Given the description of an element on the screen output the (x, y) to click on. 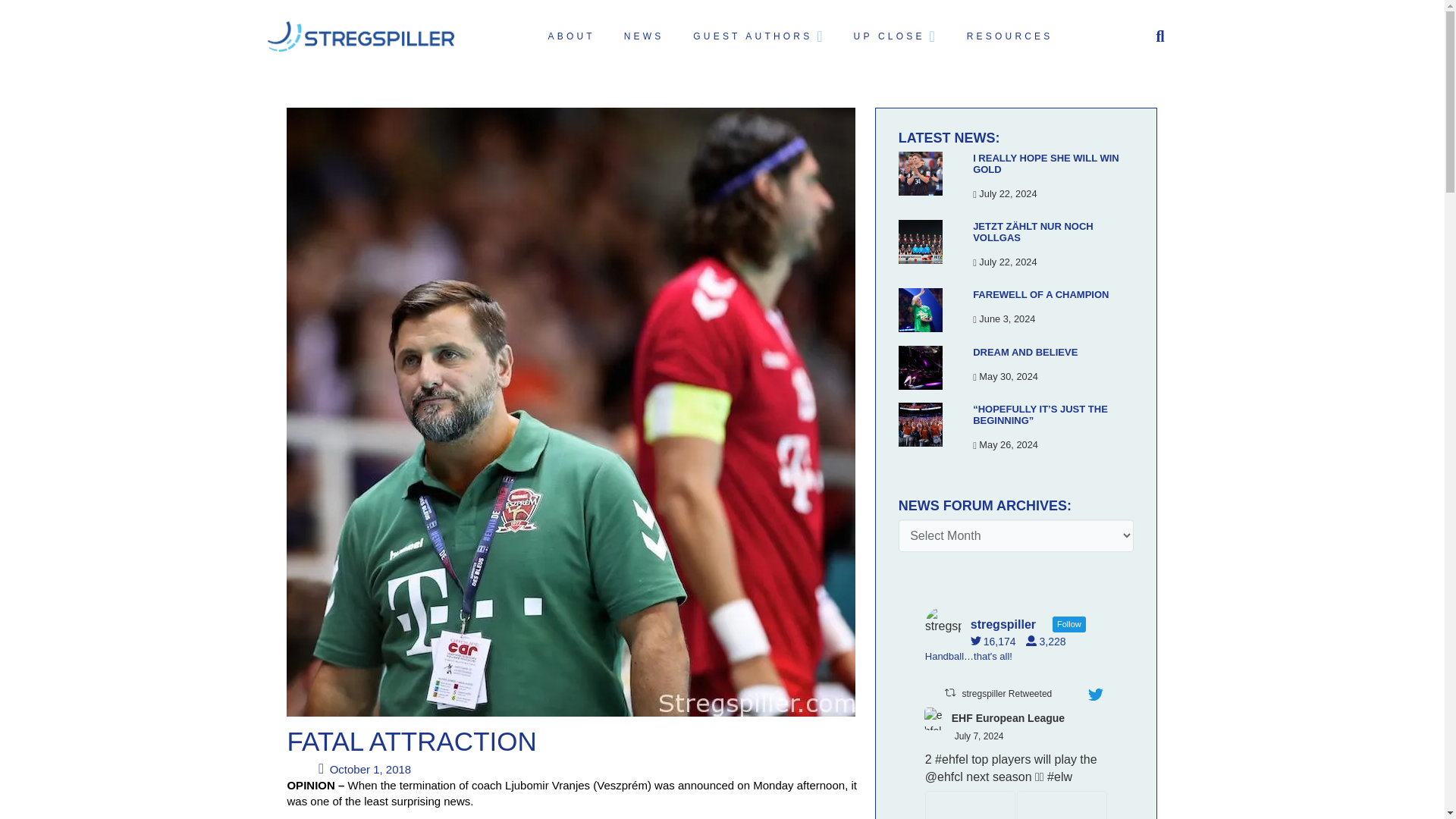
Retweet on Twitter (949, 692)
DREAM AND BELIEVE (1024, 351)
FAREWELL OF A CHAMPION (1040, 294)
stregspiller Retweeted (1005, 693)
I REALLY HOPE SHE WILL WIN GOLD (1045, 163)
; (935, 718)
NEWS (642, 36)
UP CLOSE (894, 36)
3,228 Followers (1049, 641)
EHF European League (1008, 718)
16,174 Tweets (997, 641)
RESOURCES (1007, 36)
GUEST AUTHORS (757, 36)
July 7, 2024 1809878773749493940 (980, 736)
ABOUT (570, 36)
